Given the description of an element on the screen output the (x, y) to click on. 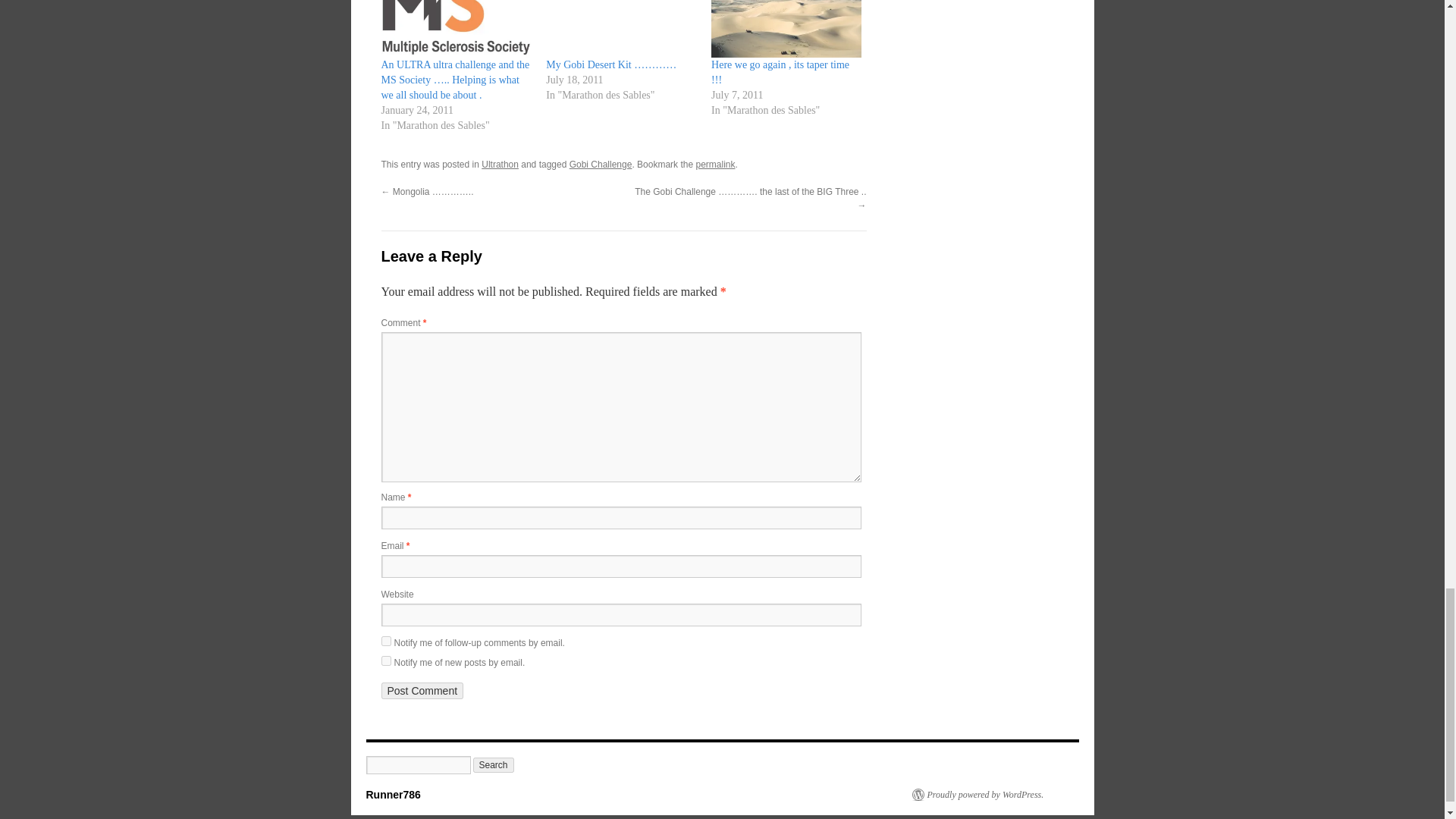
Post Comment (421, 690)
subscribe (385, 660)
subscribe (385, 641)
Proudly powered by WordPress. (977, 794)
Here we go again , its taper time !!! (779, 71)
Semantic Personal Publishing Platform (977, 794)
Here we go again , its taper time !!! (786, 28)
Gobi Challenge (600, 163)
Runner786 (392, 794)
permalink (715, 163)
Search (493, 765)
Here we go again , its taper time !!! (779, 71)
Ultrathon (499, 163)
Post Comment (421, 690)
Search (493, 765)
